Given the description of an element on the screen output the (x, y) to click on. 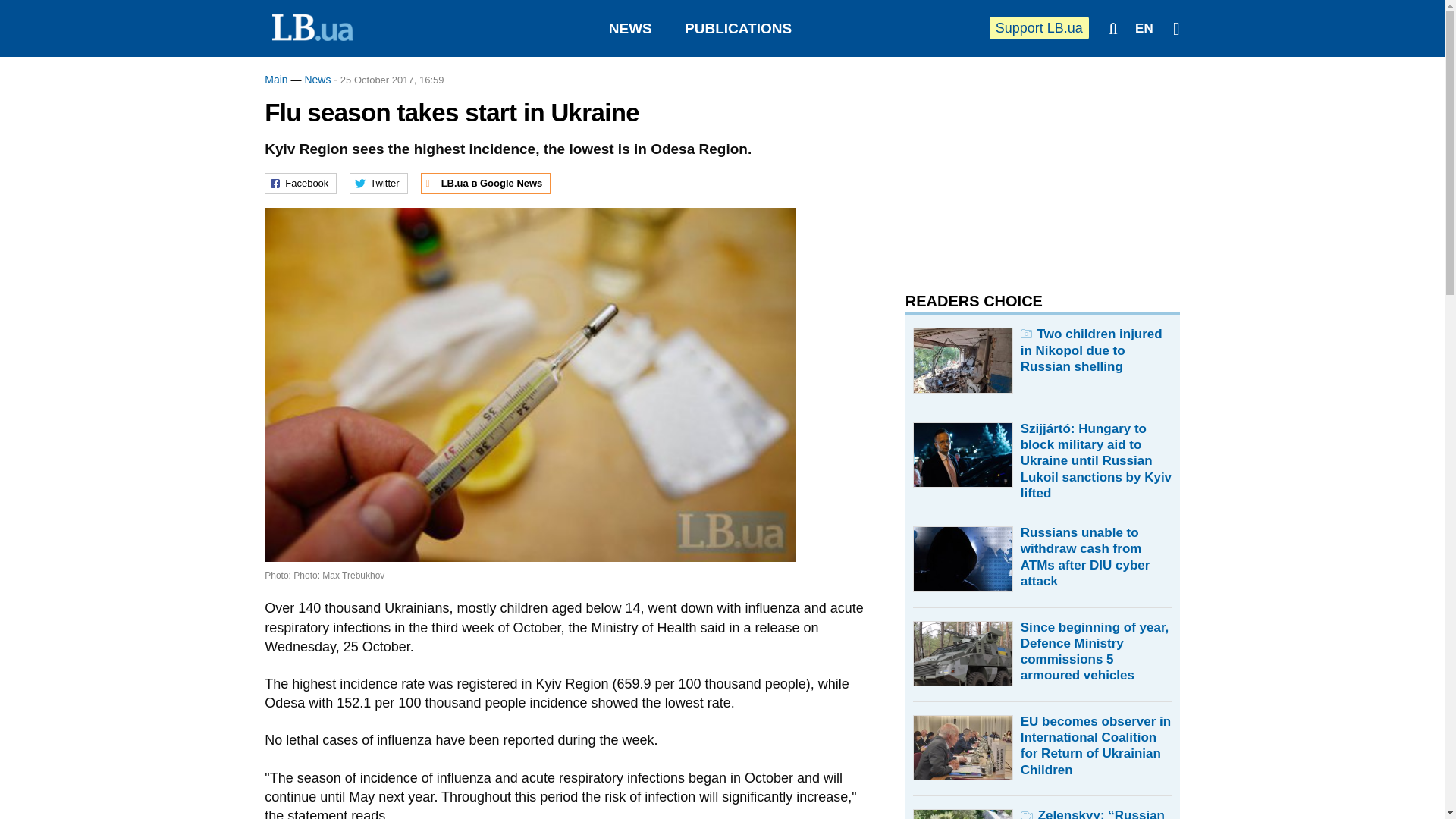
PUBLICATIONS (738, 28)
EN (1144, 28)
Support LB.ua (1039, 27)
NEWS (630, 28)
Main (275, 79)
News (317, 79)
